Given the description of an element on the screen output the (x, y) to click on. 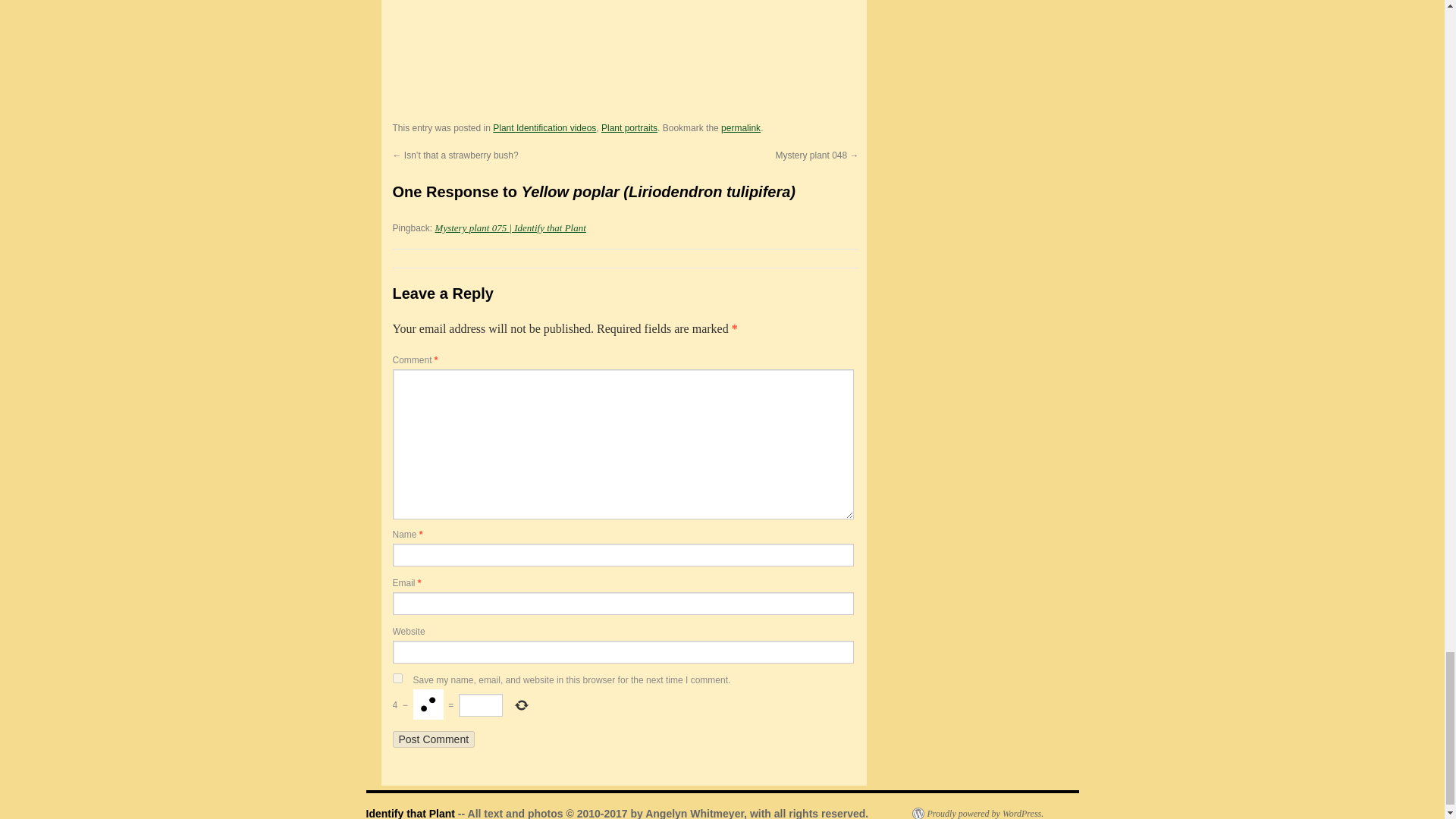
Plant portraits (629, 127)
Post Comment (434, 739)
yes (398, 678)
Plant Identification videos (544, 127)
Post Comment (434, 739)
permalink (740, 127)
